Given the description of an element on the screen output the (x, y) to click on. 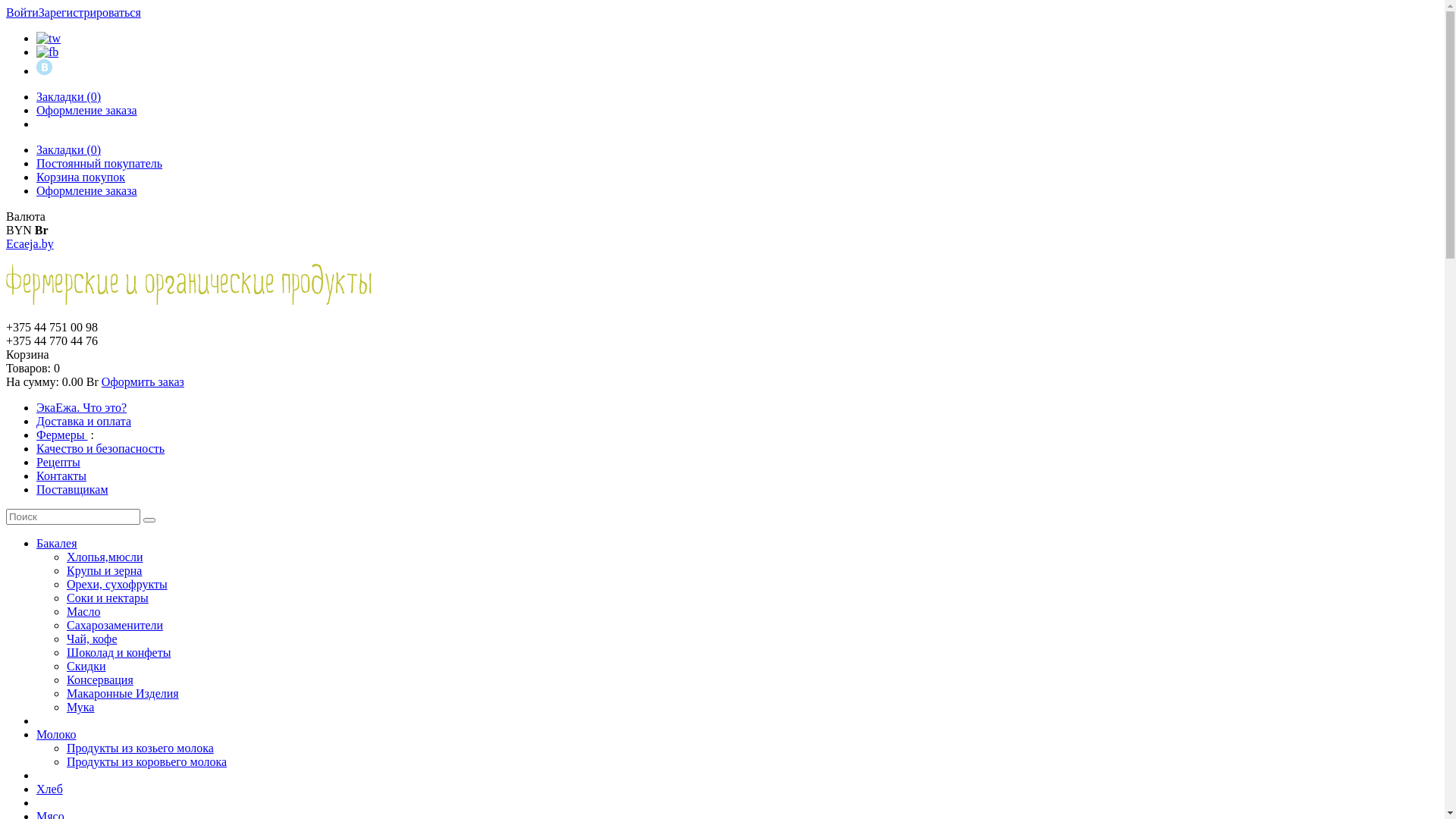
Ecaeja.by Element type: text (29, 243)
Br Element type: text (41, 229)
BYN Element type: text (18, 229)
